Given the description of an element on the screen output the (x, y) to click on. 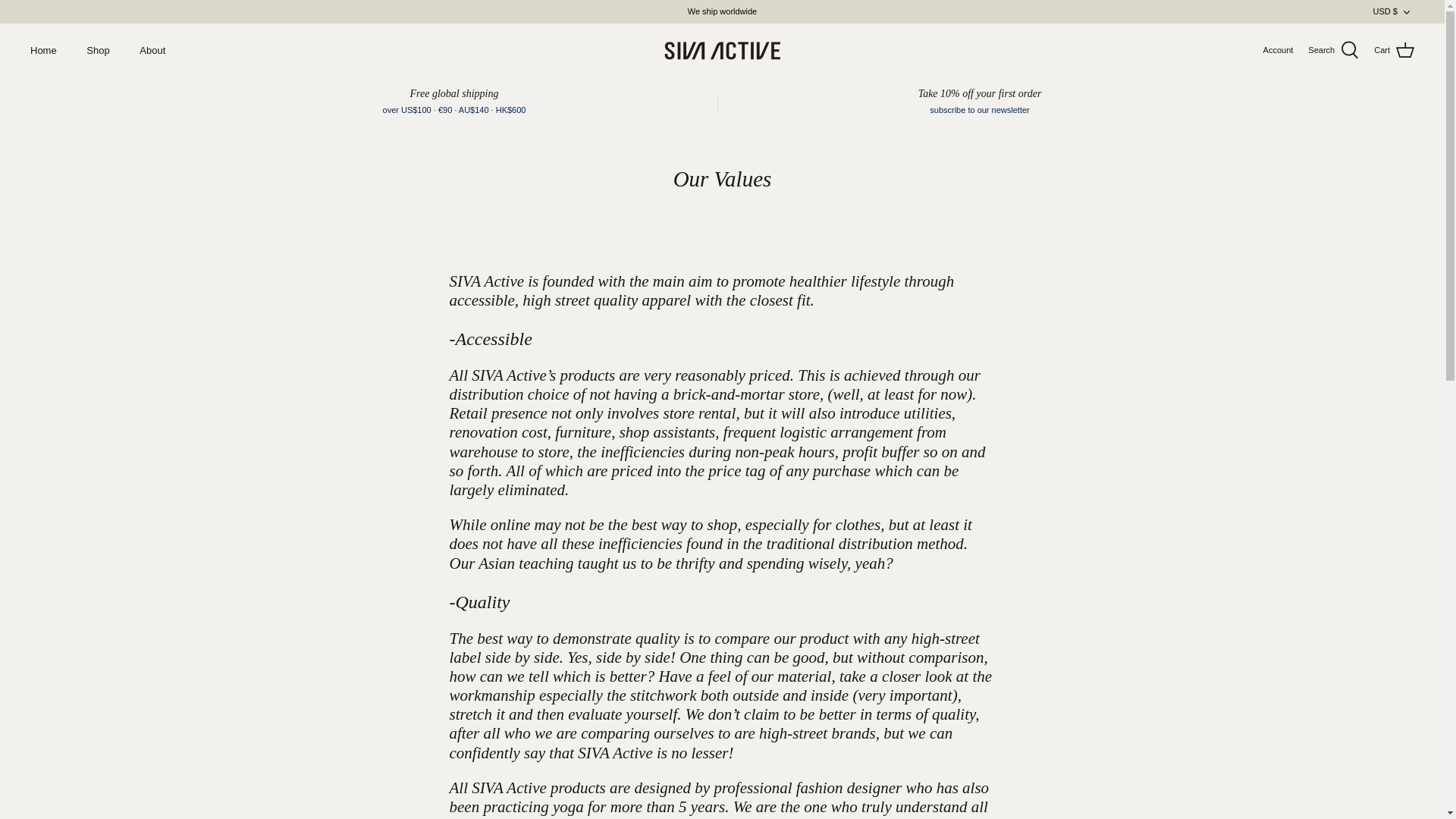
About (152, 50)
Down (1406, 11)
Home (42, 50)
Search (1332, 50)
Cart (1393, 50)
Shop (97, 50)
SIVA ACTIVE (722, 50)
Account (1278, 50)
